Given the description of an element on the screen output the (x, y) to click on. 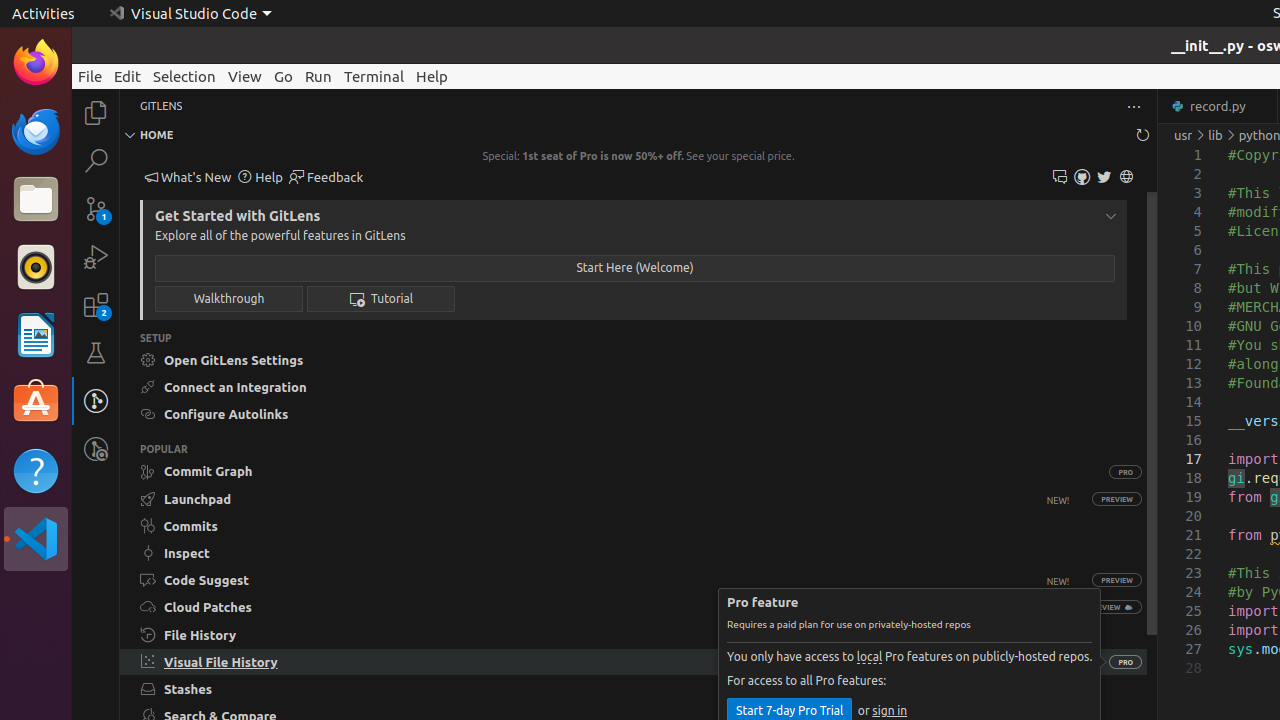
Walkthrough Element type: link (229, 298)
View Element type: push-button (245, 76)
Open Autolinks Settings Element type: link (633, 414)
